Given the description of an element on the screen output the (x, y) to click on. 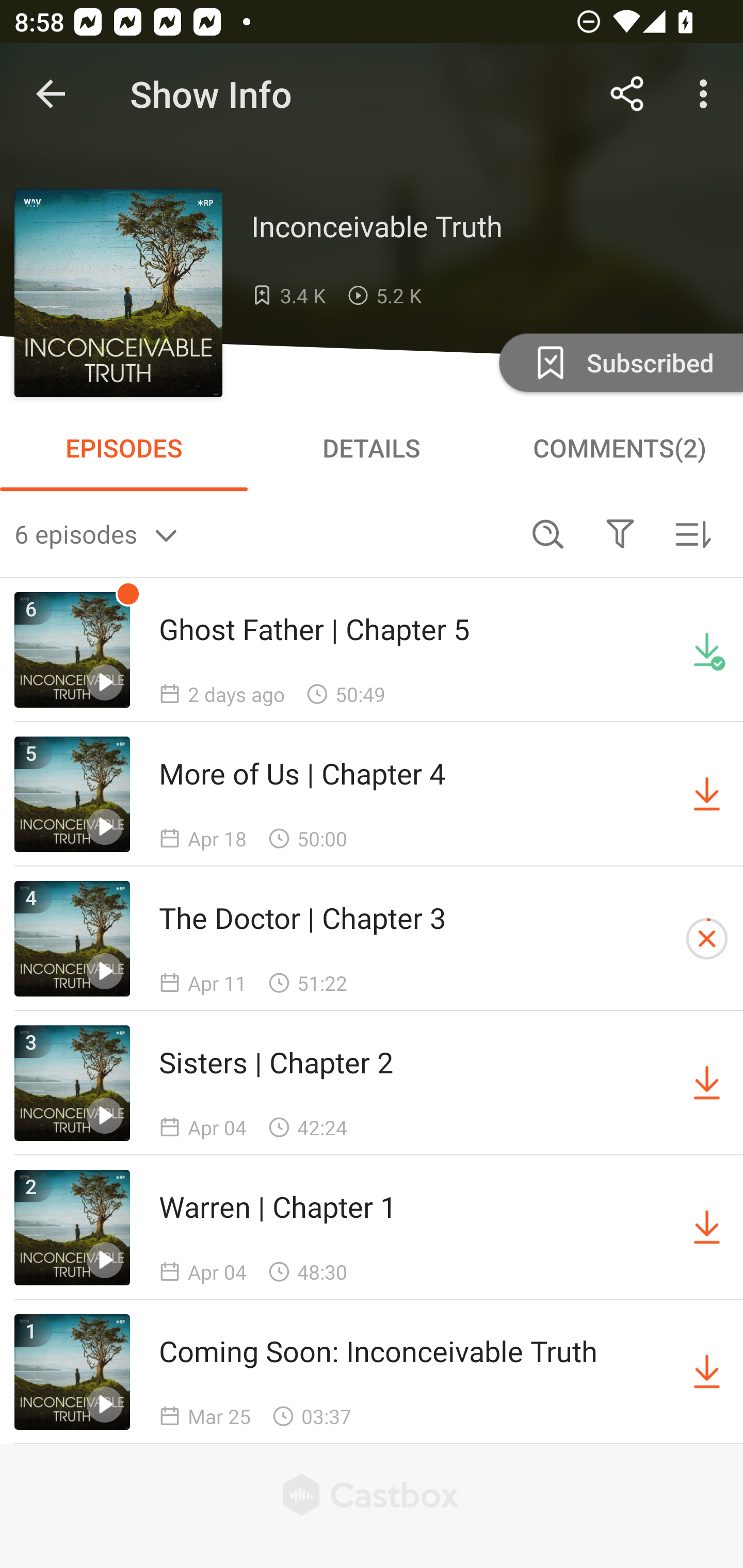
Navigate up (50, 93)
Share (626, 93)
More options (706, 93)
Unsubscribe Subscribed (619, 361)
EPISODES (123, 447)
DETAILS (371, 447)
COMMENTS(2) (619, 447)
6 episodes  (262, 533)
 Search (547, 533)
 (619, 533)
 Sorted by newest first (692, 533)
Downloaded (706, 649)
Download (706, 793)
Cancel Downloading (706, 939)
Download (706, 1083)
Download (706, 1227)
Download (706, 1371)
